Given the description of an element on the screen output the (x, y) to click on. 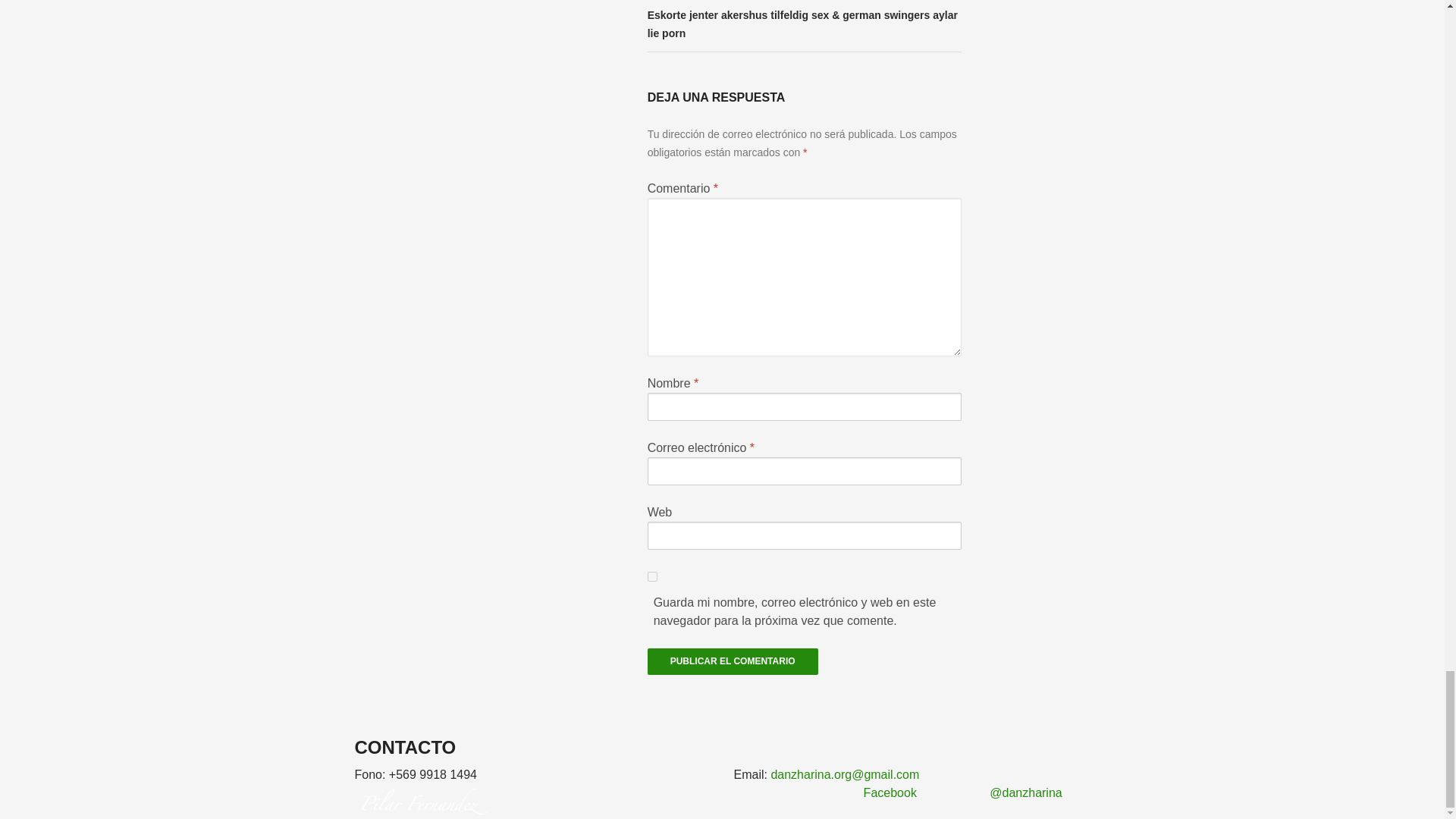
Publicar el comentario (732, 661)
Publicar el comentario (732, 661)
yes (652, 576)
